Given the description of an element on the screen output the (x, y) to click on. 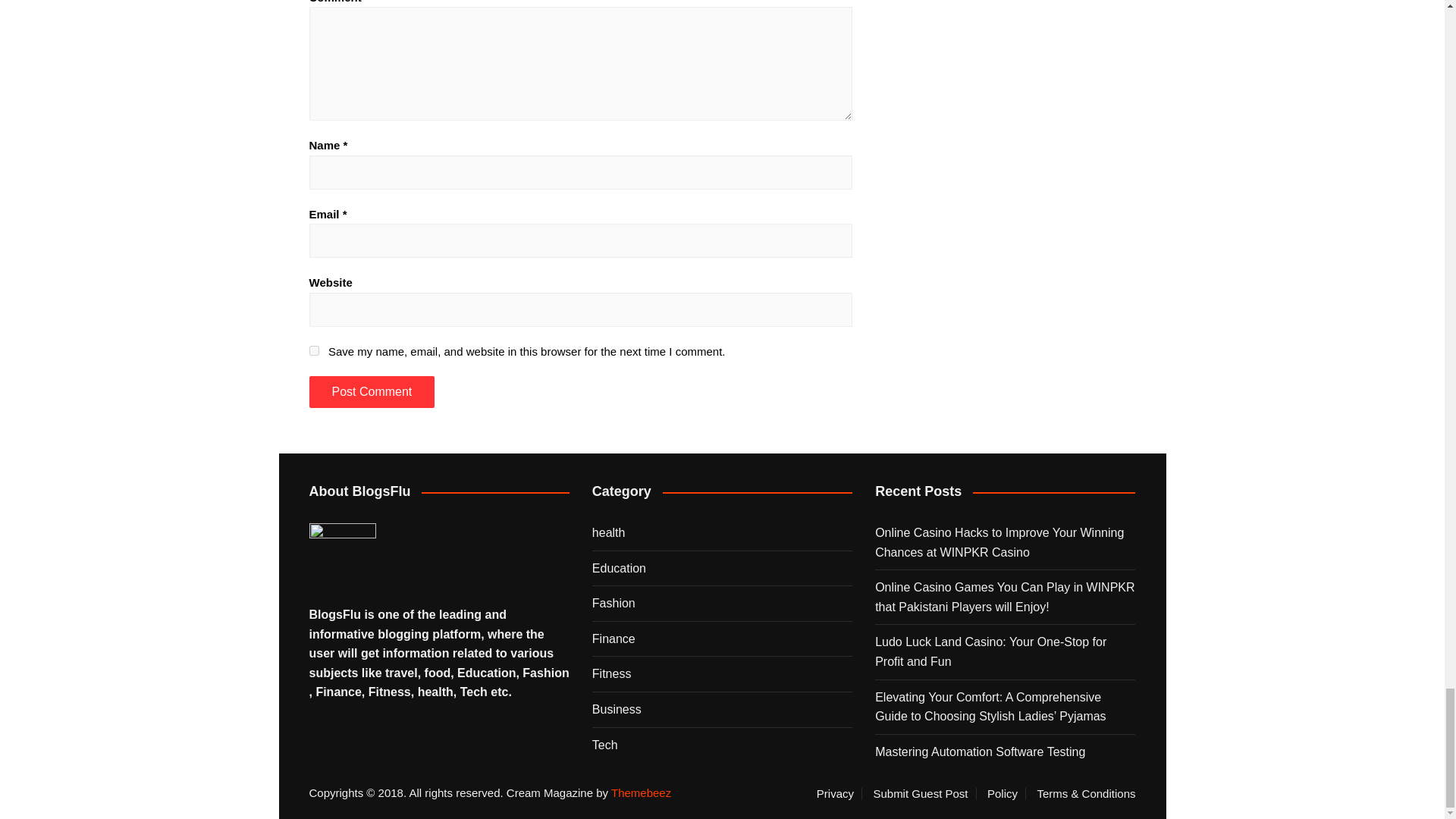
Post Comment (371, 391)
yes (313, 350)
